Given the description of an element on the screen output the (x, y) to click on. 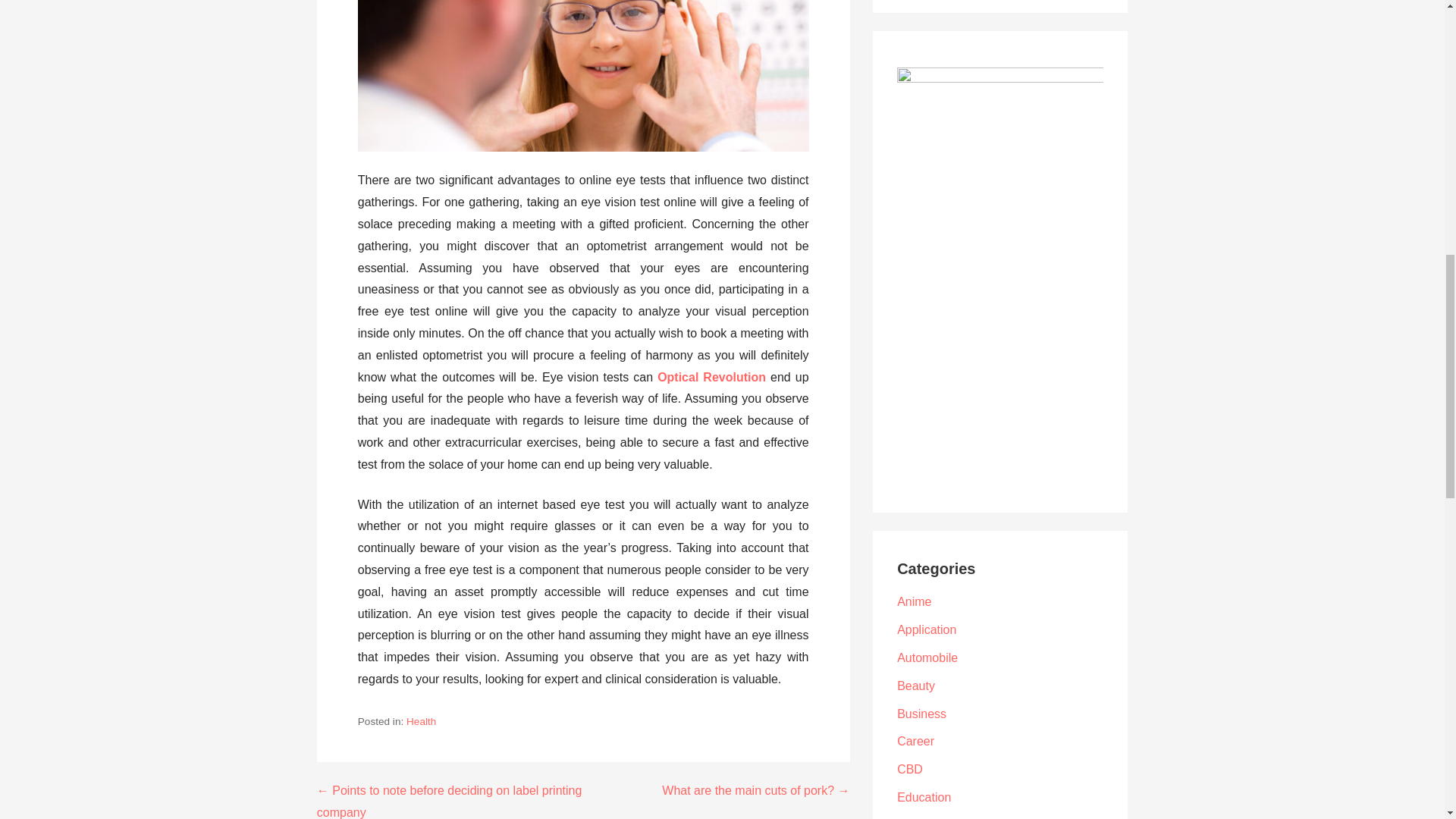
Education (923, 797)
Anime (913, 601)
Career (915, 740)
Health (420, 721)
Optical Revolution (711, 377)
Application (926, 629)
CBD (909, 768)
Business (921, 713)
Beauty (915, 685)
Automobile (927, 657)
